Given the description of an element on the screen output the (x, y) to click on. 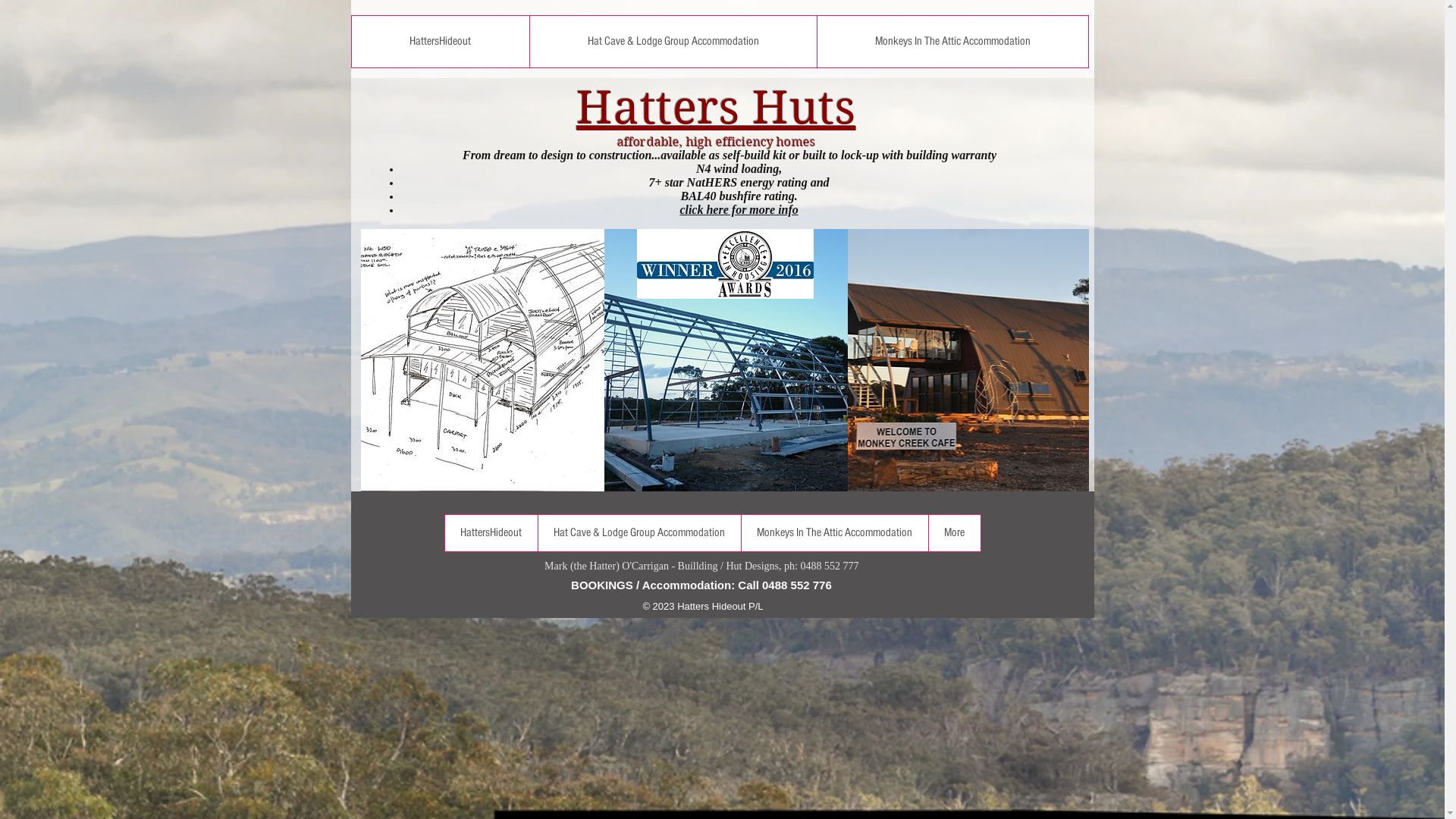
Hatters Huts Element type: text (715, 107)
Monkeys In The Attic Accommodation Element type: text (833, 532)
Hat Cave & Lodge Group Accommodation Element type: text (638, 532)
click here for more info Element type: text (738, 209)
Monkeys In The Attic Accommodation Element type: text (951, 41)
HattersHideout Element type: text (490, 532)
Hat Cave & Lodge Group Accommodation Element type: text (672, 41)
HattersHideout Element type: text (440, 41)
